Given the description of an element on the screen output the (x, y) to click on. 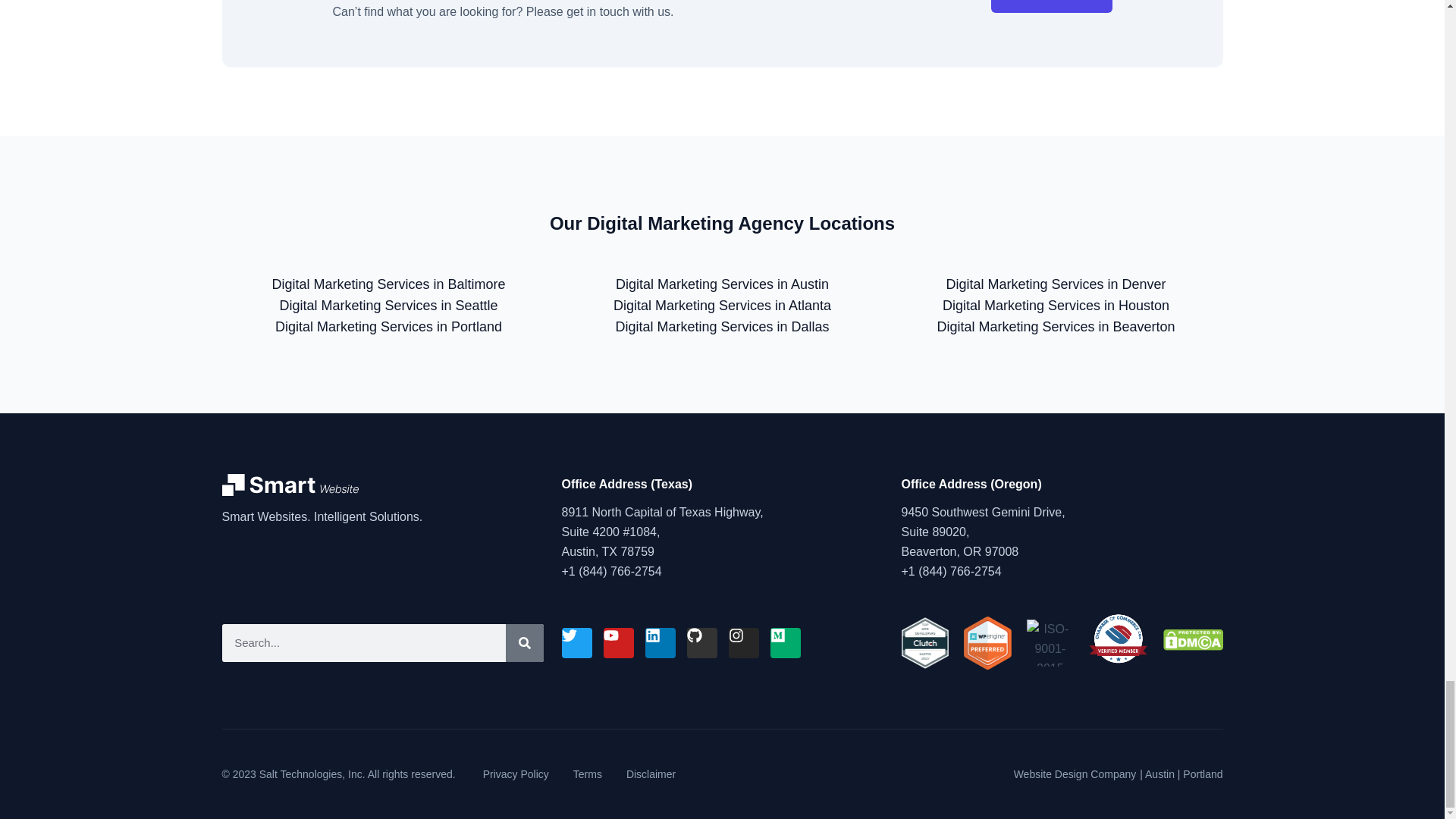
Digital Marketing Services in Denver (1055, 283)
Get in Touch (1051, 6)
Digital Marketing Services in Baltimore (387, 283)
Digital Marketing Services in Seattle (388, 305)
DMCA.com Protection Status (1193, 645)
Digital Marketing Services in Dallas (721, 326)
Digital Marketing Services in Austin (721, 283)
Digital Marketing Services in Portland (388, 326)
Digital Marketing Services in Beaverton (1055, 326)
Digital Marketing Services in Houston (1055, 305)
Digital Marketing Services in Atlanta (721, 305)
